Given the description of an element on the screen output the (x, y) to click on. 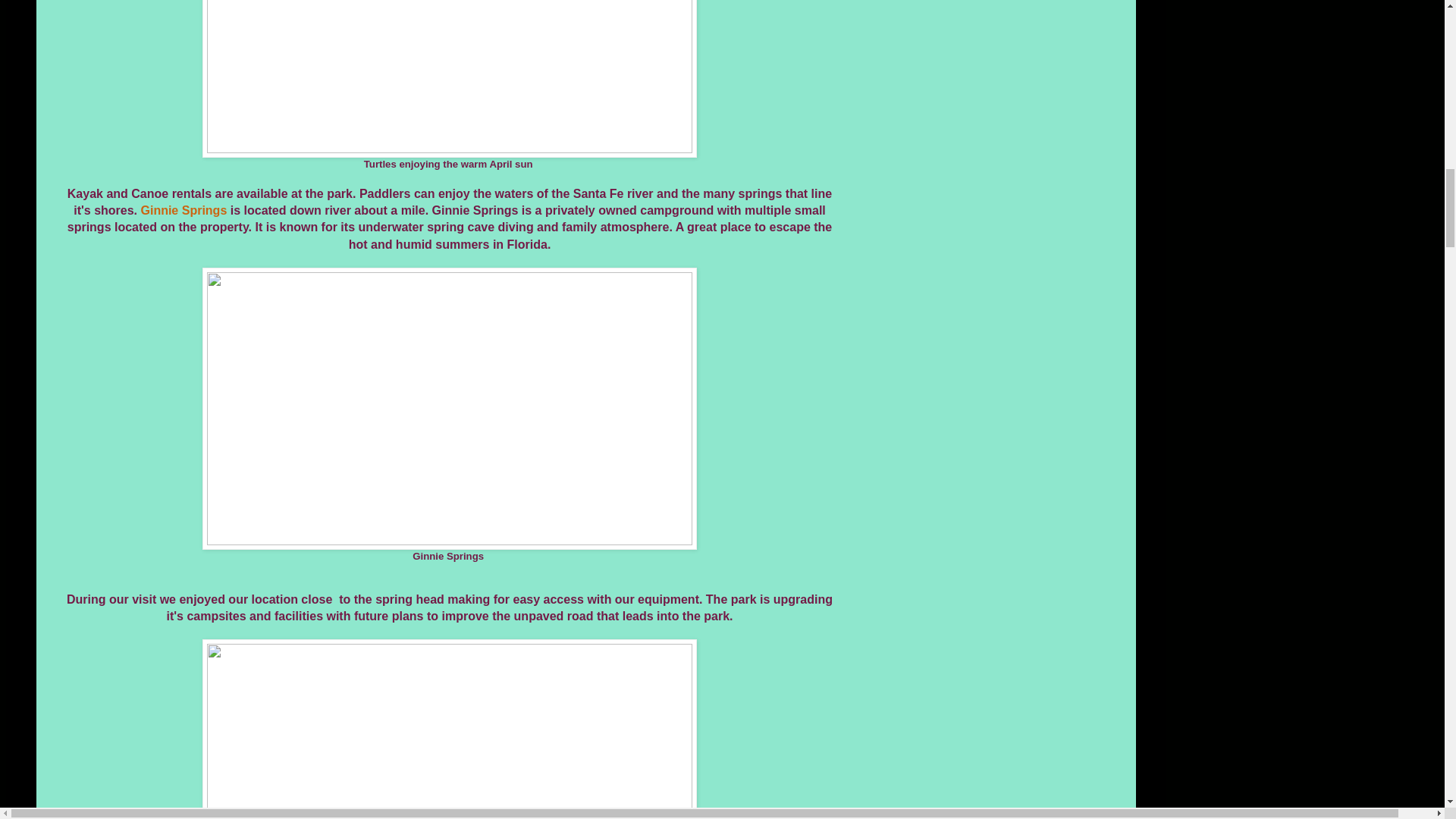
Ginnie Springs (183, 210)
